Given the description of an element on the screen output the (x, y) to click on. 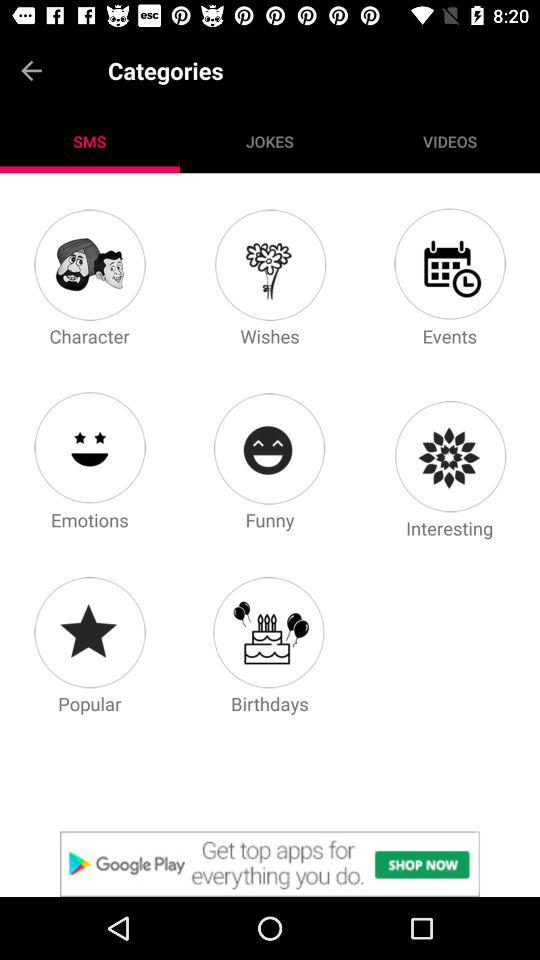
choose the selection (270, 864)
